Given the description of an element on the screen output the (x, y) to click on. 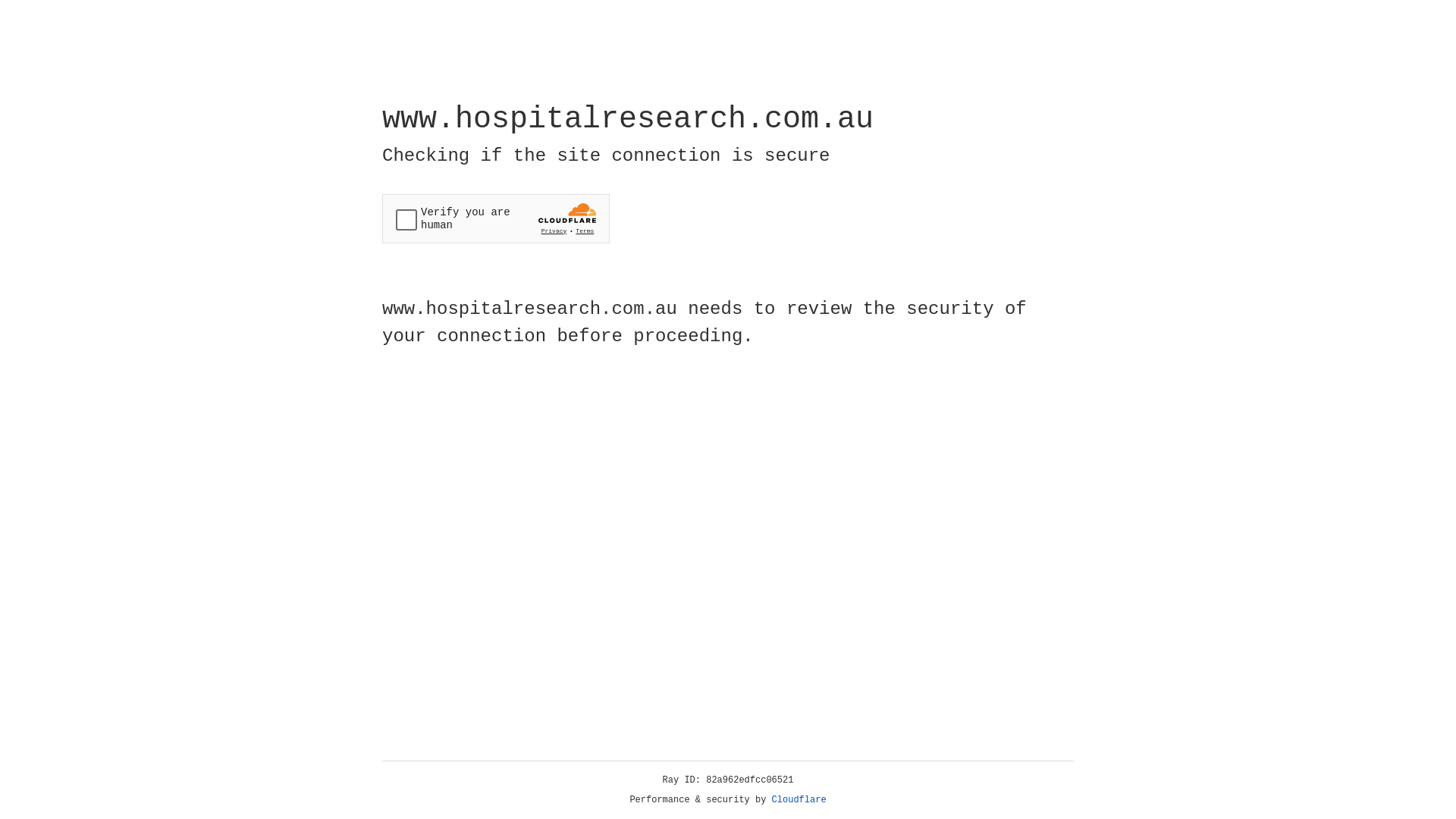
Widget containing a Cloudflare security challenge Element type: hover (495, 218)
Cloudflare Element type: text (798, 799)
